Given the description of an element on the screen output the (x, y) to click on. 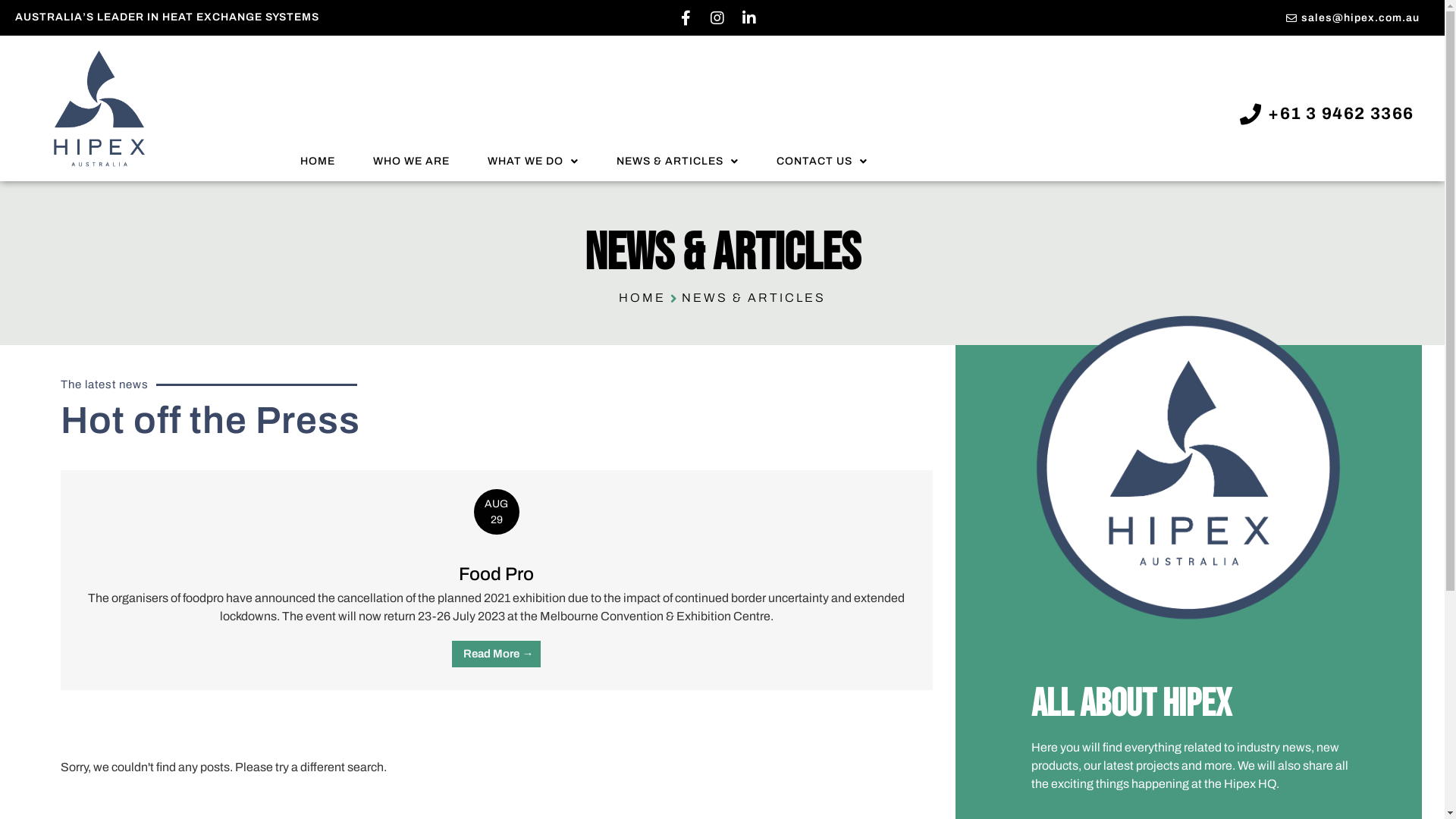
WHO WE ARE Element type: text (411, 161)
WHAT WE DO Element type: text (532, 161)
CONTACT US Element type: text (821, 161)
NEWS & ARTICLES Element type: text (677, 161)
HOME Element type: text (317, 161)
sales@hipex.com.au Element type: text (1137, 17)
Food Pro Element type: text (495, 573)
